Given the description of an element on the screen output the (x, y) to click on. 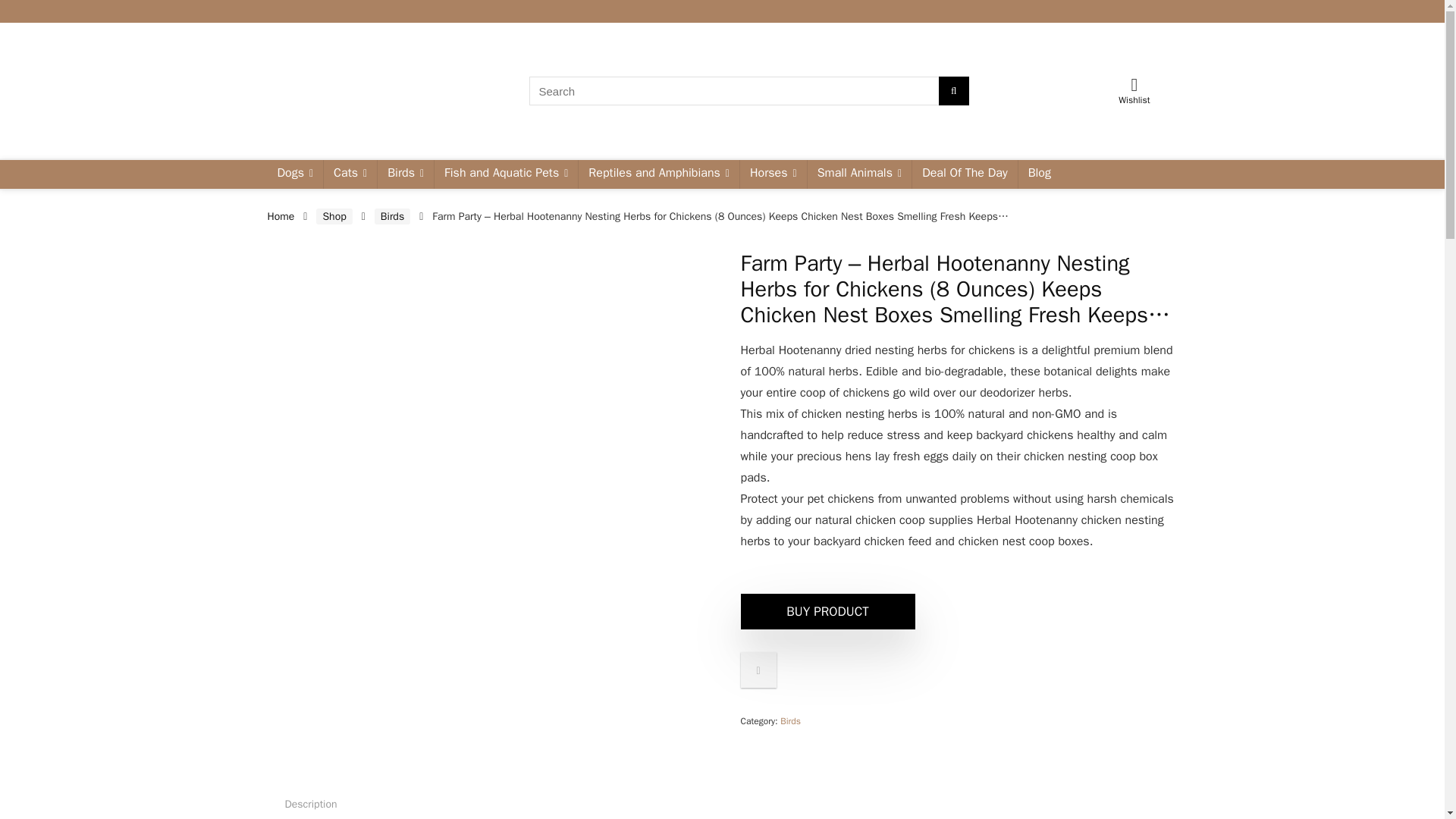
Birds (405, 174)
Cats (350, 174)
Dogs (294, 174)
